Given the description of an element on the screen output the (x, y) to click on. 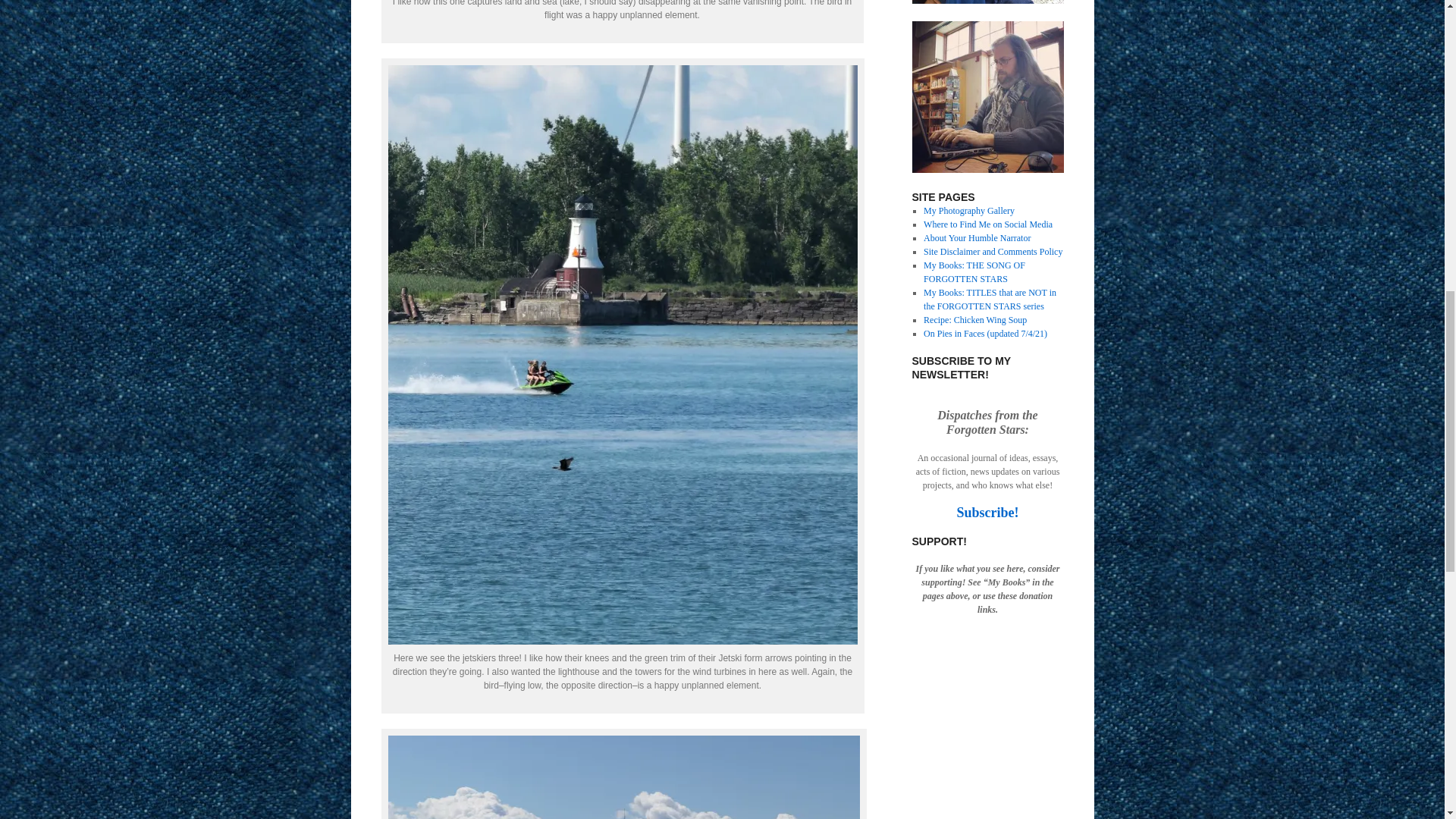
My Photography Gallery (968, 210)
Site Disclaimer and Comments Policy (992, 251)
My Books: THE SONG OF FORGOTTEN STARS (974, 272)
My Books: TITLES that are NOT in the FORGOTTEN STARS series (990, 299)
About Your Humble Narrator (976, 237)
Where to Find Me on Social Media (987, 224)
Recipe: Chicken Wing Soup (974, 319)
Subscribe! (986, 512)
